Given the description of an element on the screen output the (x, y) to click on. 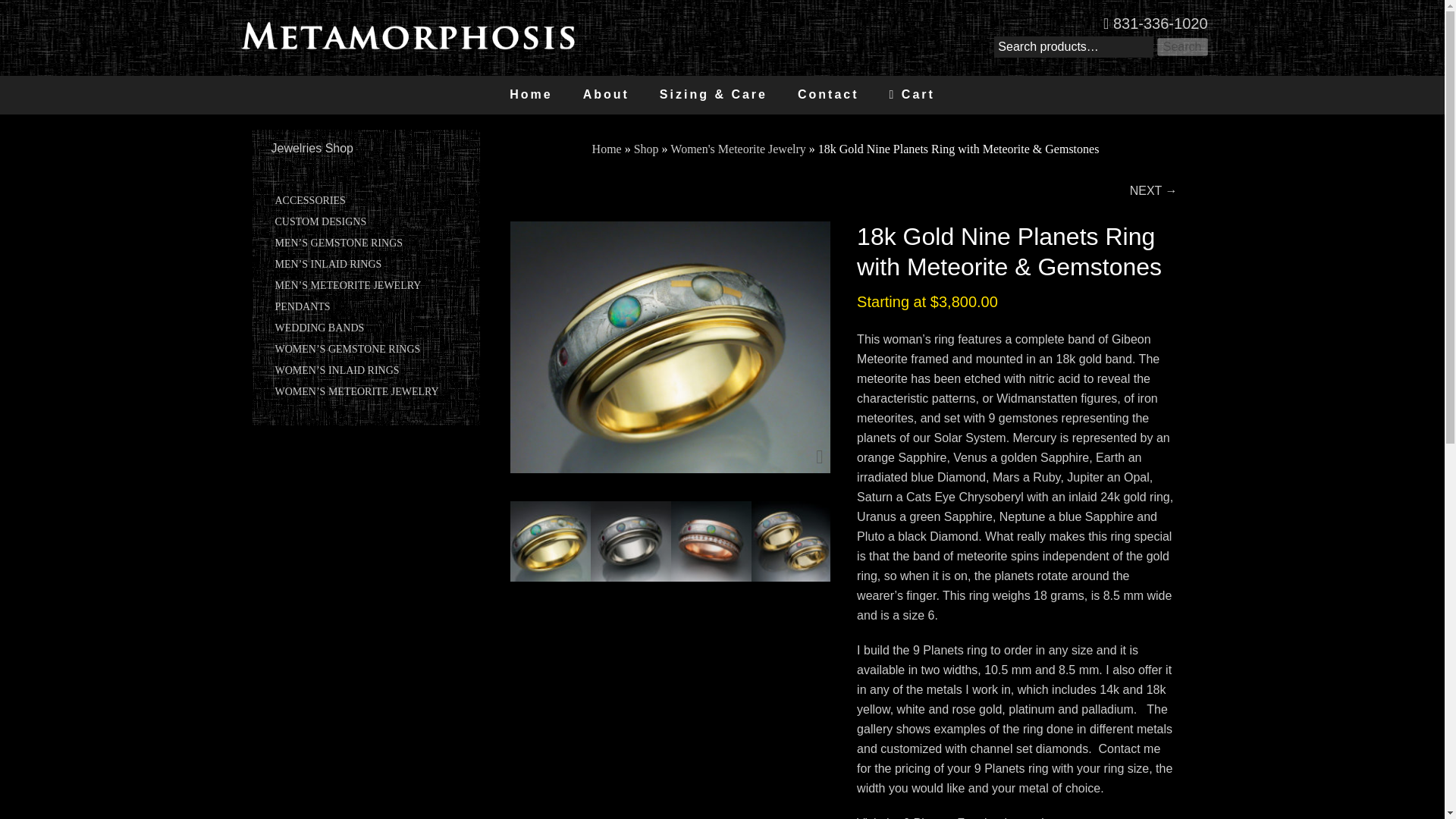
831-336-1020 (1155, 23)
Shop (646, 148)
Cart (912, 95)
Home (606, 148)
Facebook (983, 817)
Contact (829, 95)
Home (531, 95)
Metamorphosis Jewelry Design (406, 45)
PENDANTS (302, 306)
96MS18y8mm (669, 347)
Women's Meteorite Jewelry (737, 148)
Search (1182, 46)
About (606, 95)
WEDDING BANDS (319, 327)
ACCESSORIES (310, 200)
